Given the description of an element on the screen output the (x, y) to click on. 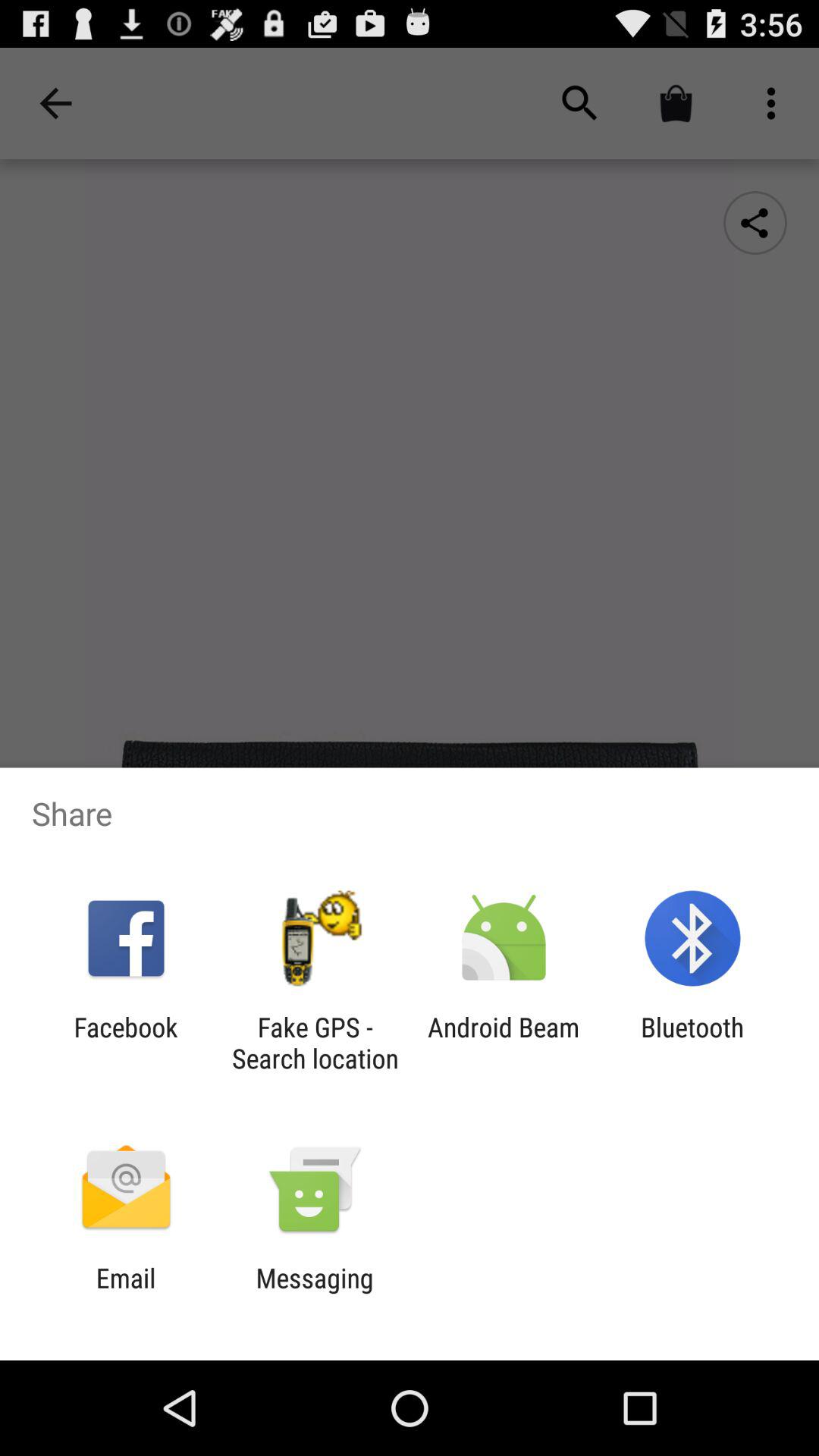
turn off app to the left of messaging item (125, 1293)
